Given the description of an element on the screen output the (x, y) to click on. 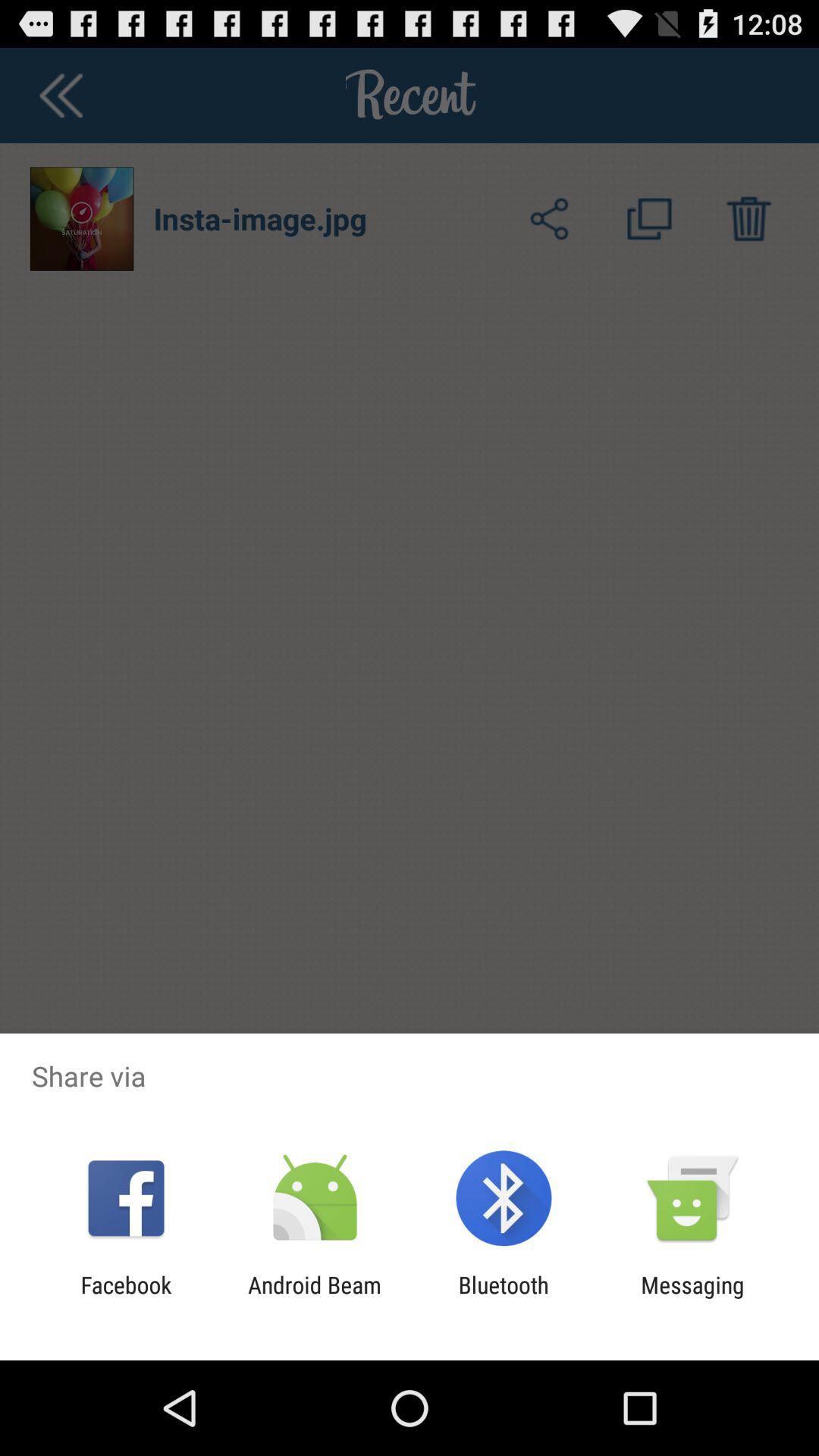
jump until android beam app (314, 1298)
